Given the description of an element on the screen output the (x, y) to click on. 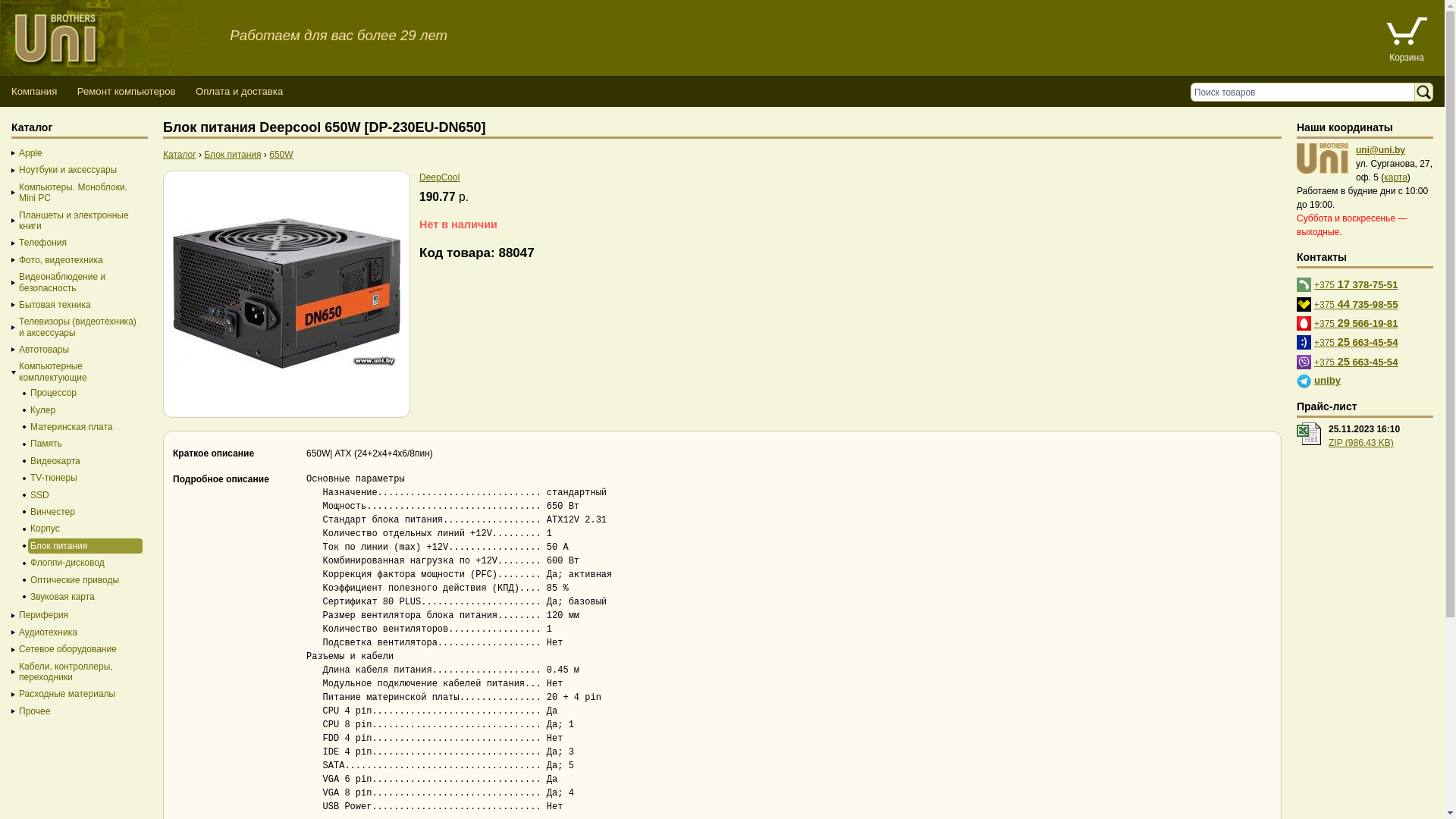
DeepCool Element type: text (439, 177)
+375 25 663-45-54 Element type: text (1357, 358)
uniby Element type: text (1328, 378)
ZIP (986.43 KB) Element type: text (1360, 442)
650W Element type: text (280, 154)
SSD Element type: text (81, 495)
+375 29 566-19-81 Element type: text (1357, 320)
Apple Element type: text (75, 153)
+375 44 735-98-55 Element type: text (1357, 300)
+375 25 663-45-54 Element type: text (1357, 339)
uni@uni.by Element type: text (1380, 149)
+375 17 378-75-51 Element type: text (1357, 282)
